Given the description of an element on the screen output the (x, y) to click on. 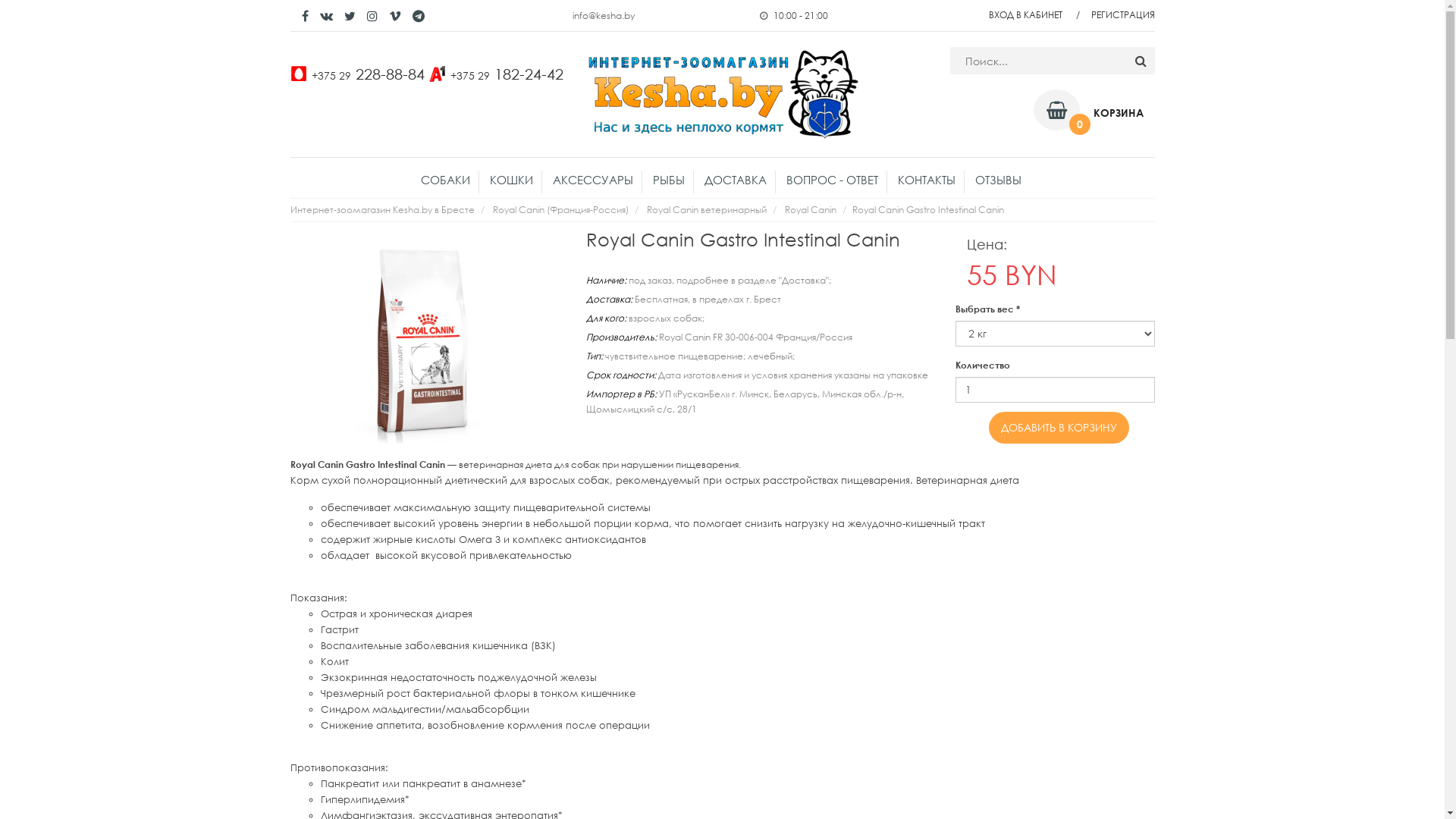
Royal Canin Element type: text (809, 209)
+375 29 228-88-84 Element type: text (366, 73)
info@kesha.by Element type: text (602, 15)
+375 29 182-24-42 Element type: text (506, 73)
